Given the description of an element on the screen output the (x, y) to click on. 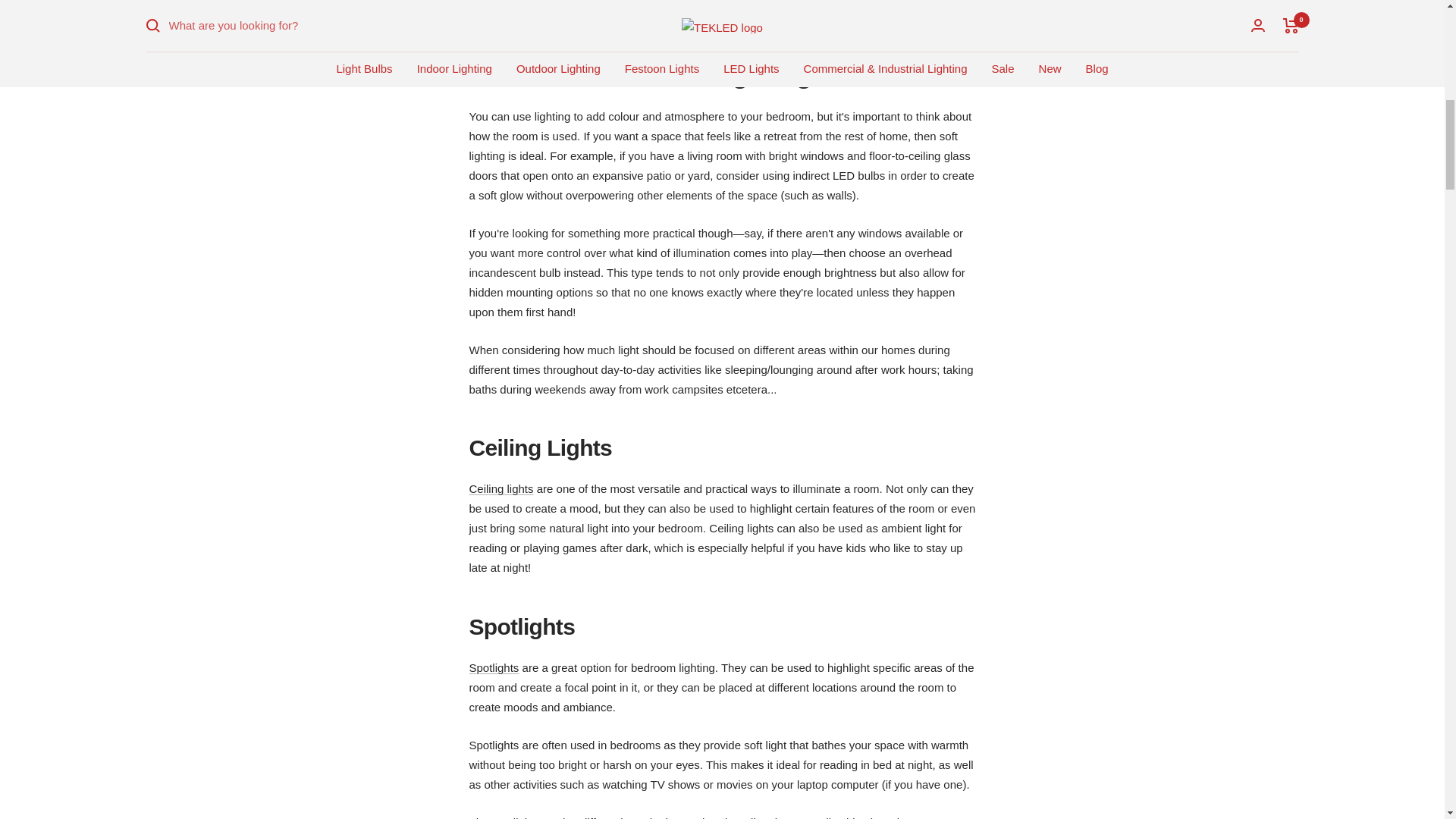
TEKLED Ceiling Lights (500, 488)
Spotlights (493, 667)
TEKLED Spotlights (493, 667)
Ceiling lights (500, 488)
